Given the description of an element on the screen output the (x, y) to click on. 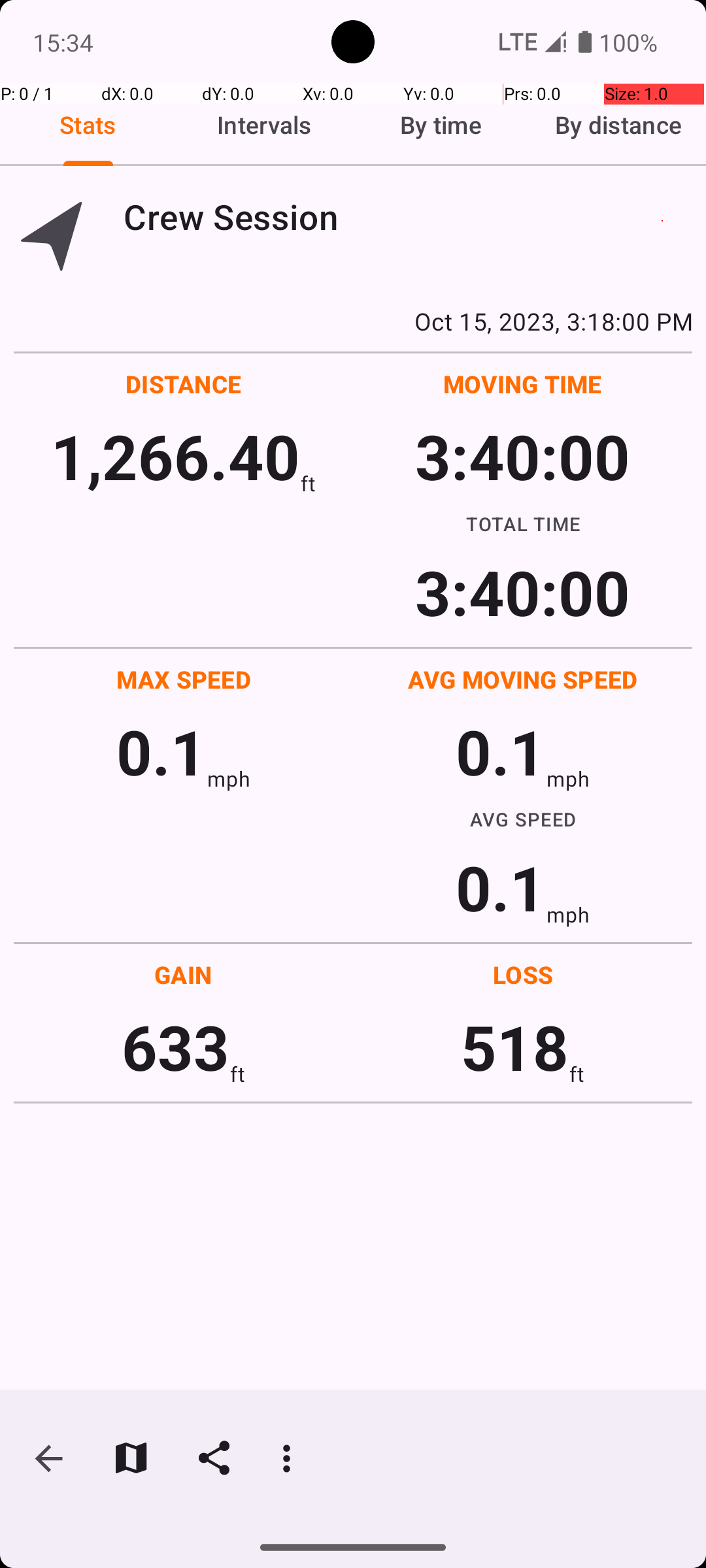
Crew Session Element type: android.widget.TextView (407, 216)
Oct 15, 2023, 3:18:00 PM Element type: android.widget.TextView (352, 320)
1,266.40 Element type: android.widget.TextView (175, 455)
3:40:00 Element type: android.widget.TextView (522, 455)
0.1 Element type: android.widget.TextView (161, 750)
633 Element type: android.widget.TextView (175, 1045)
518 Element type: android.widget.TextView (514, 1045)
